Given the description of an element on the screen output the (x, y) to click on. 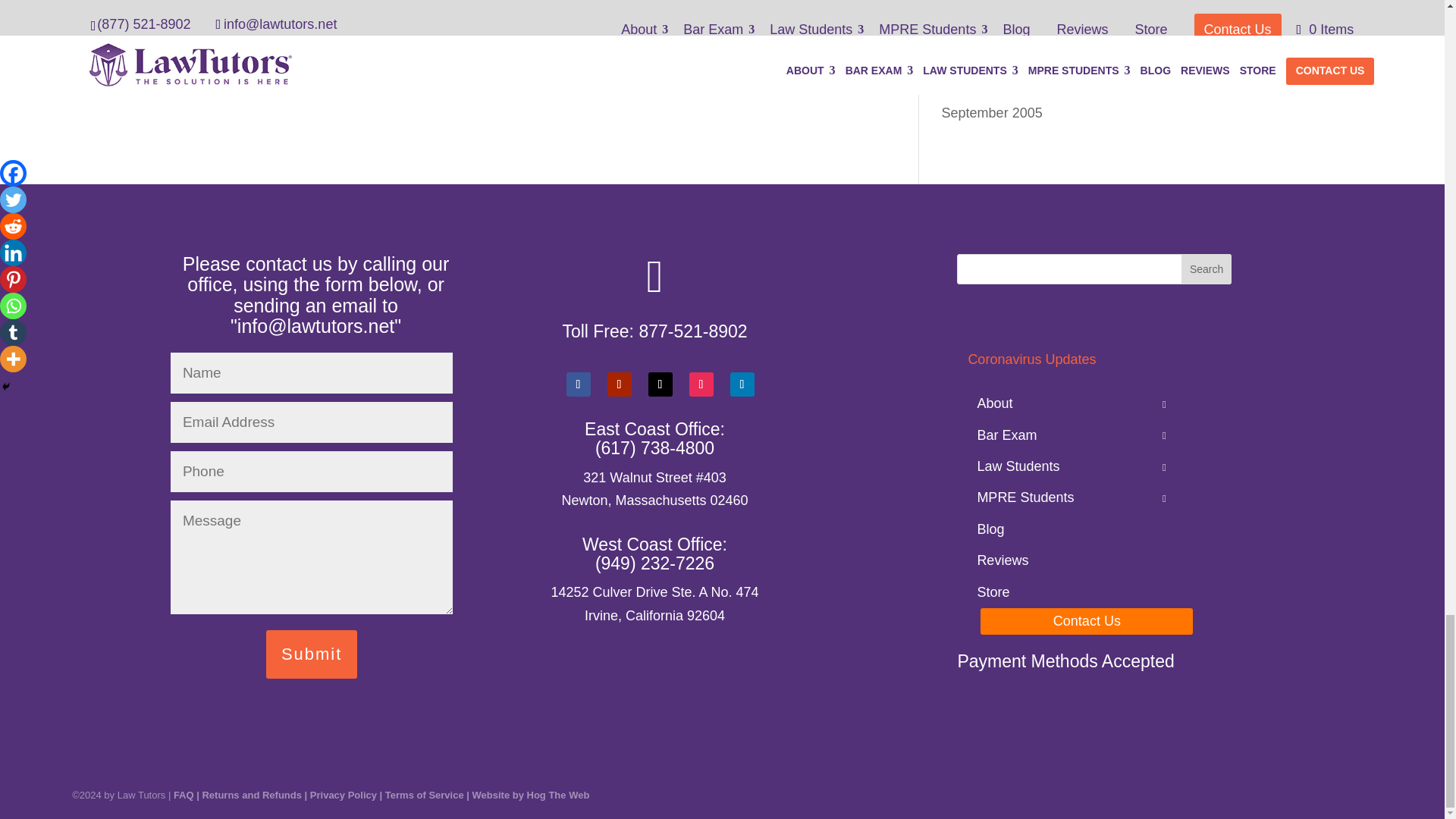
Search (1205, 268)
Submit Comment (269, 42)
